Given the description of an element on the screen output the (x, y) to click on. 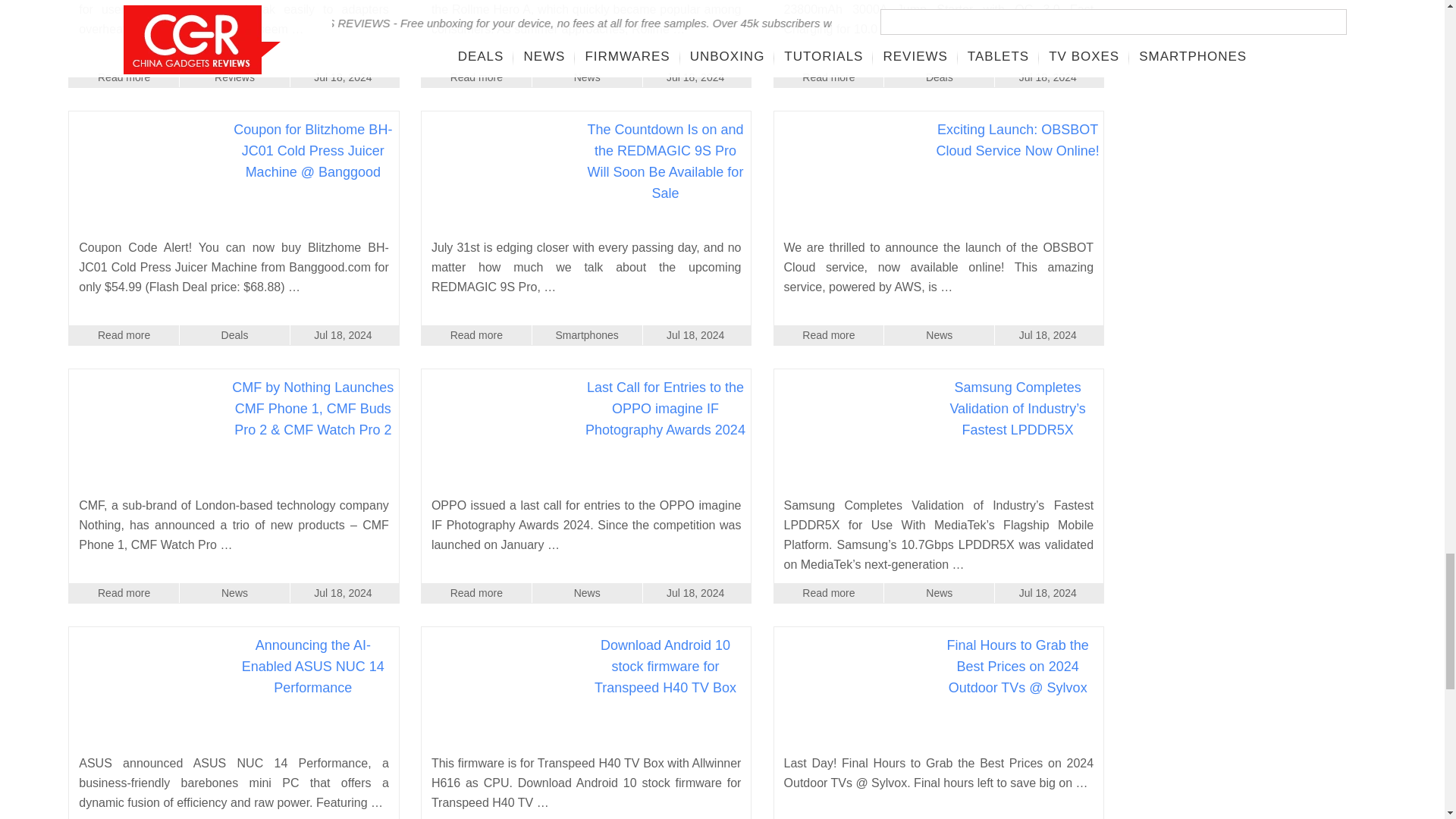
Read more (828, 76)
Read more (476, 76)
News (587, 76)
Deals (938, 76)
Reviews (234, 76)
Read more (123, 76)
